Given the description of an element on the screen output the (x, y) to click on. 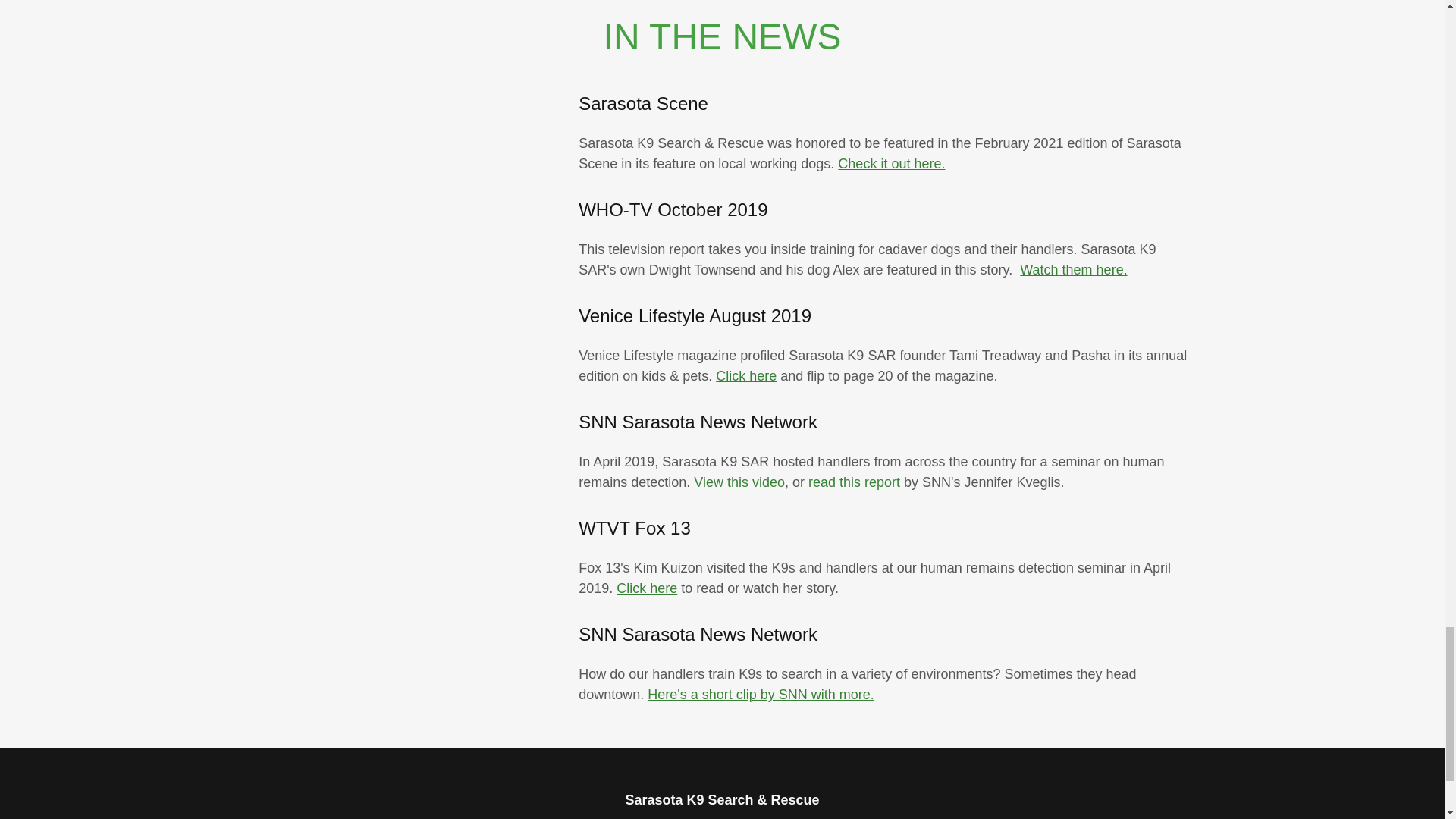
Here's a short clip by SNN with more. (761, 694)
View this video (739, 482)
Click here (646, 588)
Watch them here. (1073, 269)
Click here (746, 376)
Check it out here. (891, 163)
read this report (853, 482)
